Given the description of an element on the screen output the (x, y) to click on. 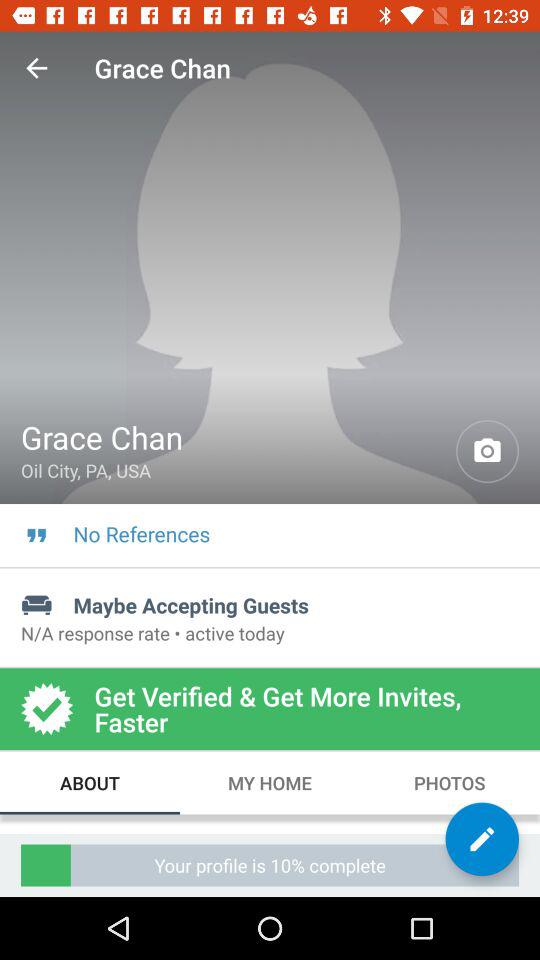
open the icon above grace chan (36, 68)
